Given the description of an element on the screen output the (x, y) to click on. 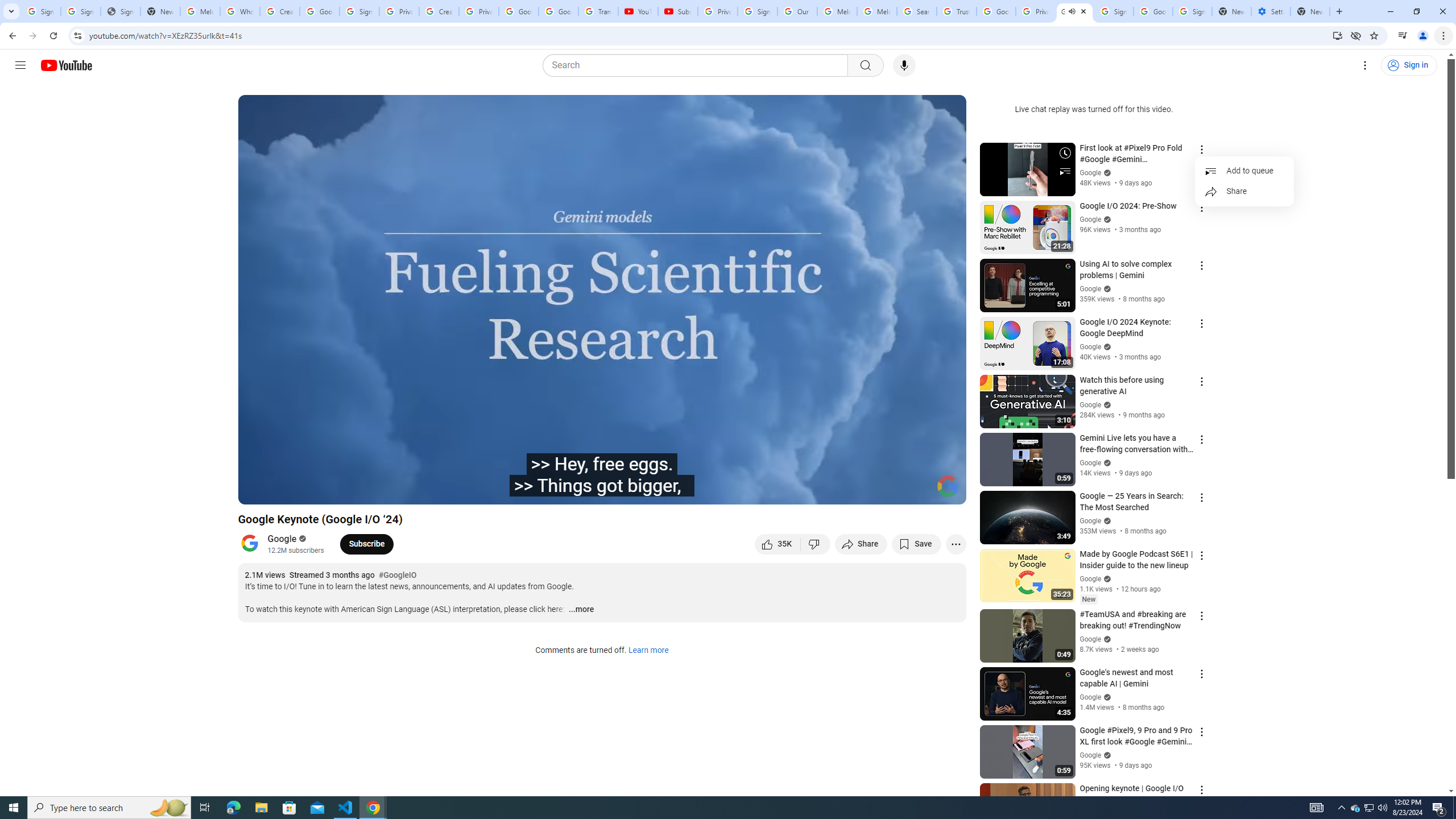
Create your Google Account (279, 11)
Autoplay is on (808, 490)
Next (SHIFT+n) (284, 490)
Mute (m) (312, 490)
Who is my administrator? - Google Account Help (239, 11)
Sign in - Google Accounts (757, 11)
#GoogleIO (397, 575)
